Given the description of an element on the screen output the (x, y) to click on. 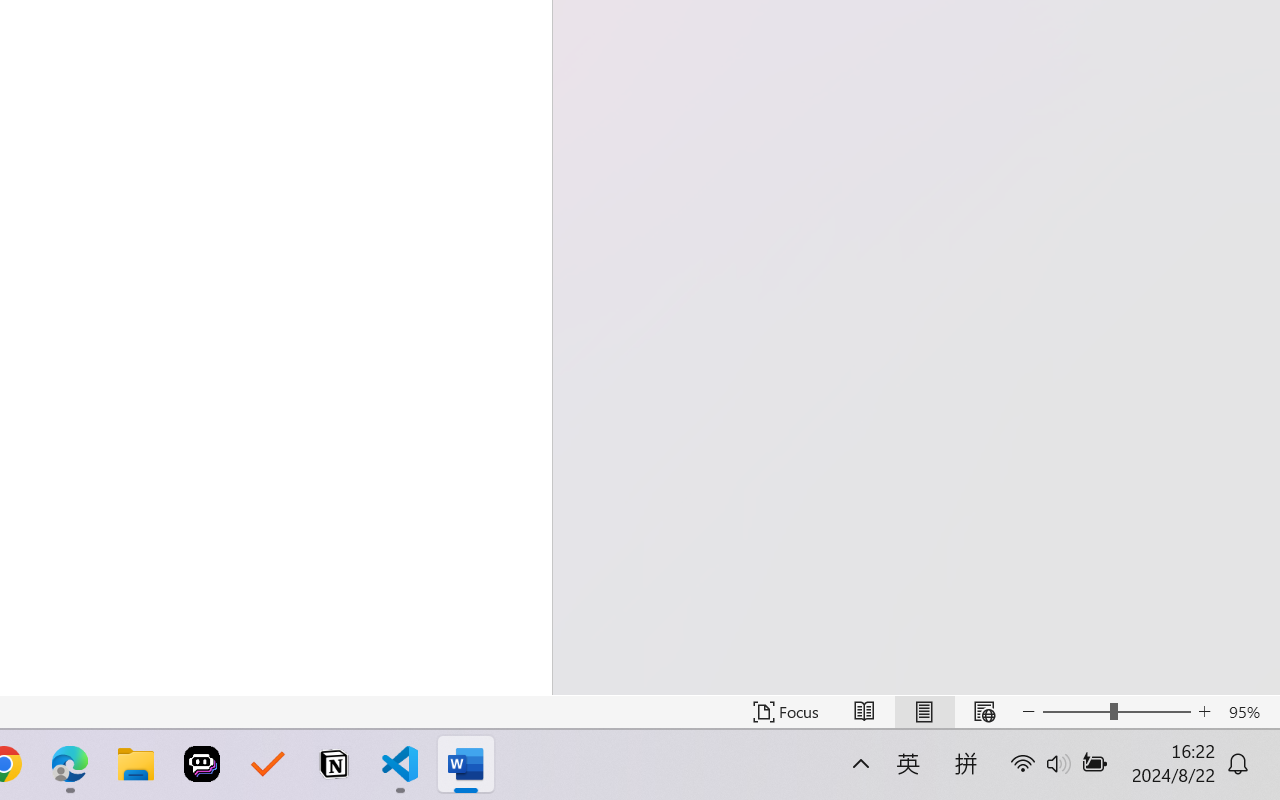
Zoom 95% (1249, 712)
